Given the description of an element on the screen output the (x, y) to click on. 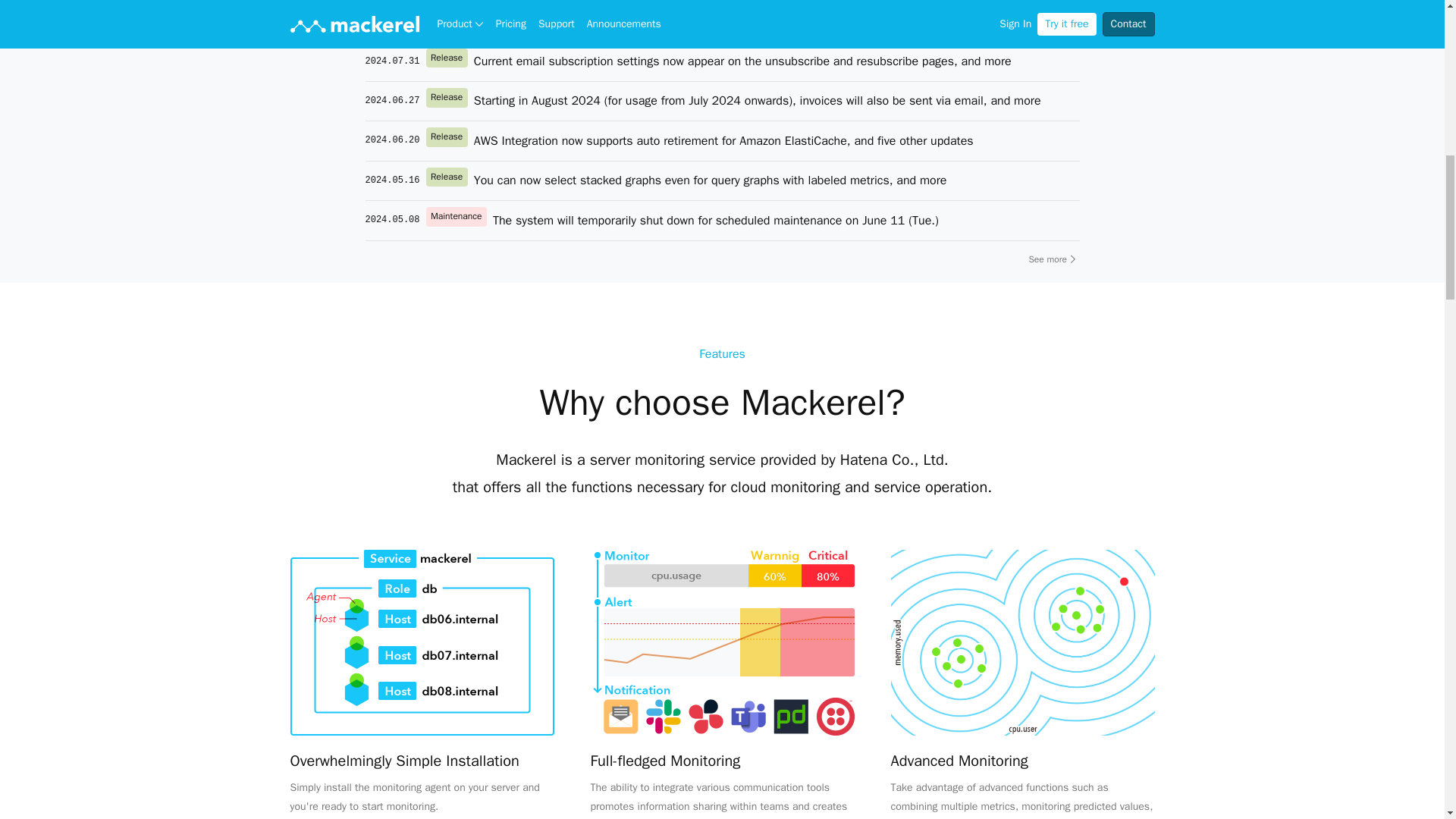
Release (450, 61)
Maintenance (459, 220)
Release (450, 180)
See more (1052, 259)
Release (450, 140)
